Given the description of an element on the screen output the (x, y) to click on. 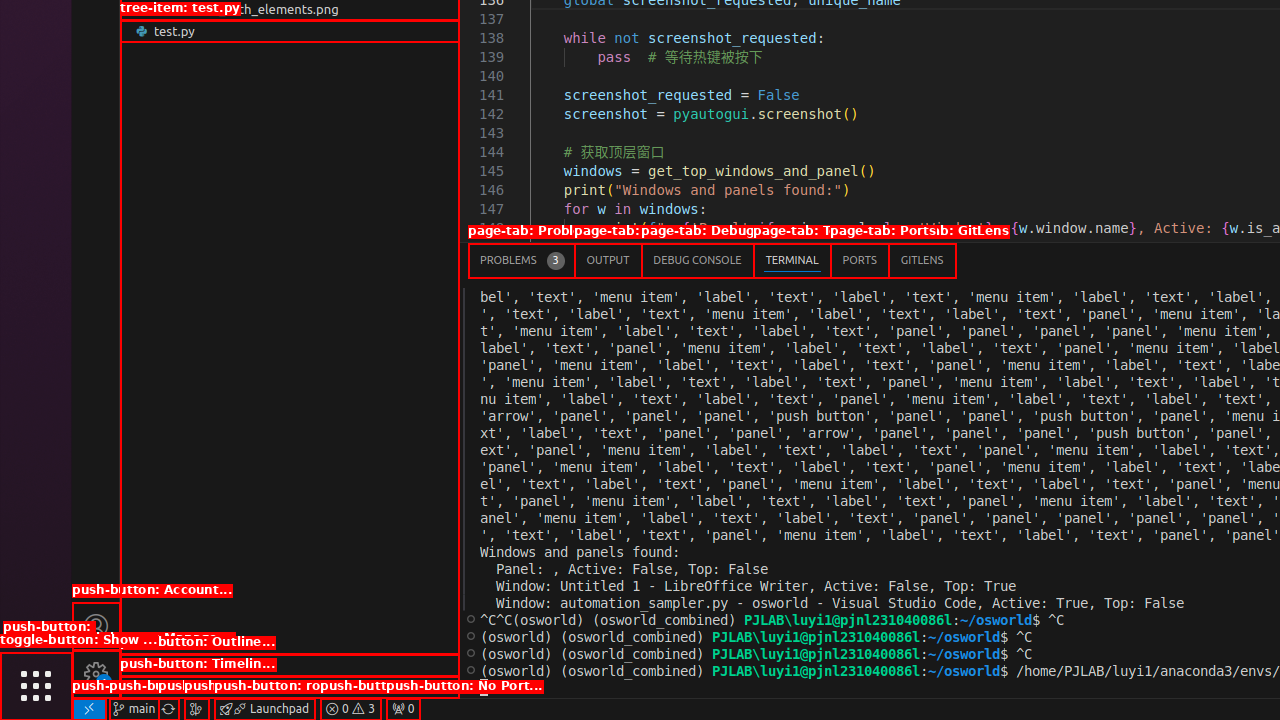
No Ports Forwarded Element type: push-button (403, 709)
Timeline Section Element type: push-button (289, 687)
Accounts Element type: push-button (96, 626)
rocket gitlens-unplug Launchpad, GitLens Launchpad ᴘʀᴇᴠɪᴇᴡ    &mdash;    [$(question)](command:gitlens.launchpad.indicator.action?%22info%22 "What is this?") [$(gear)](command:workbench.action.openSettings?%22gitlens.launchpad%22 "Settings")  |  [$(circle-slash) Hide](command:gitlens.launchpad.indicator.action?%22hide%22 "Hide") --- [Launchpad](command:gitlens.launchpad.indicator.action?%info%22 "Learn about Launchpad") organizes your pull requests into actionable groups to help you focus and keep your team unblocked. It's always accessible using the `GitLens: Open Launchpad` command from the Command Palette. --- [Connect an integration](command:gitlens.showLaunchpad?%7B%22source%22%3A%22launchpad-indicator%22%7D "Connect an integration") to get started. Element type: push-button (264, 709)
